Given the description of an element on the screen output the (x, y) to click on. 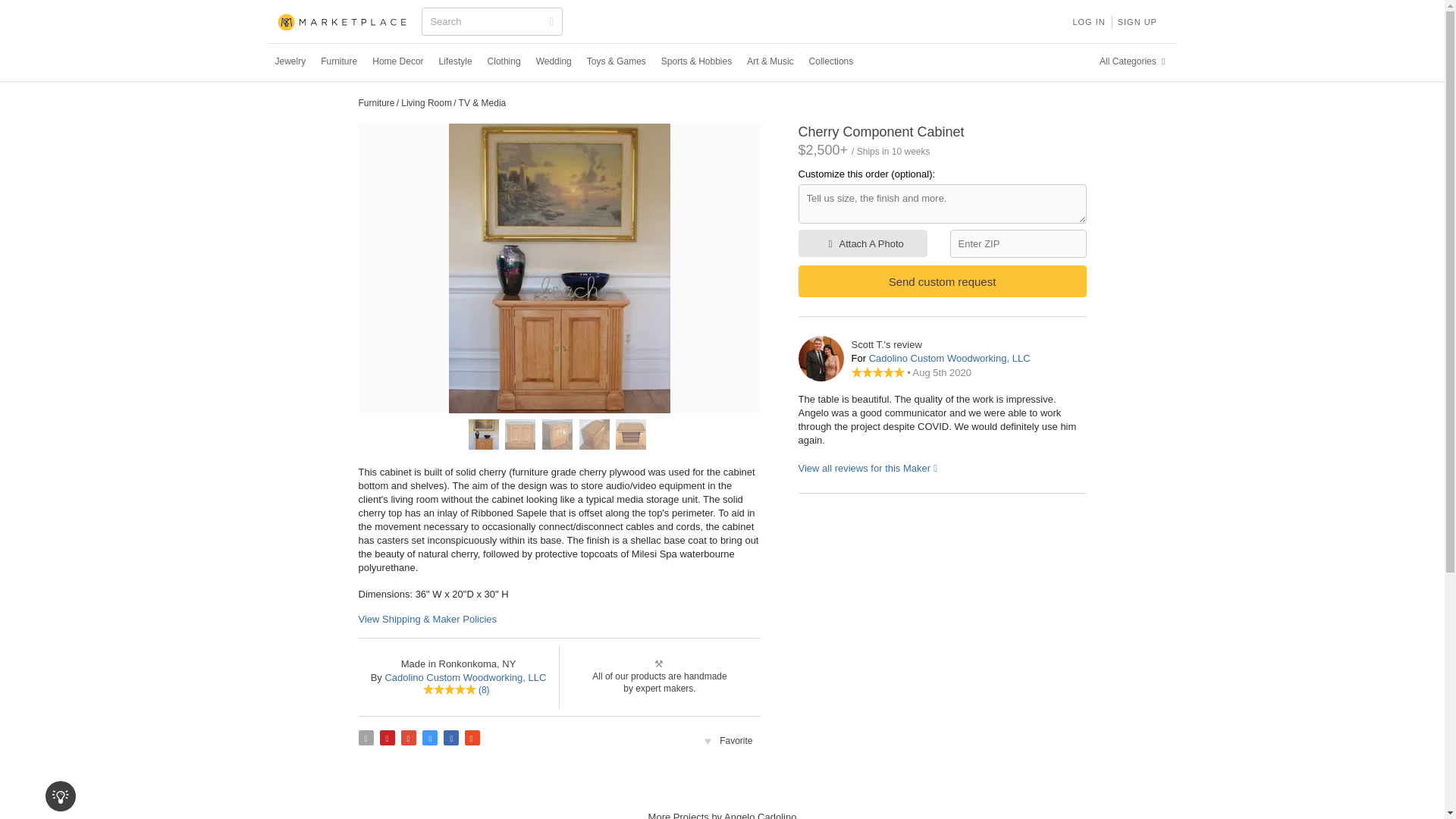
CUSTOMMADE (342, 22)
Custom Jewelry (289, 61)
Jewelry (289, 61)
SIGN UP (1137, 21)
LOG IN (1087, 21)
All Categories (1134, 61)
Log in to CustomMade (1087, 21)
